Given the description of an element on the screen output the (x, y) to click on. 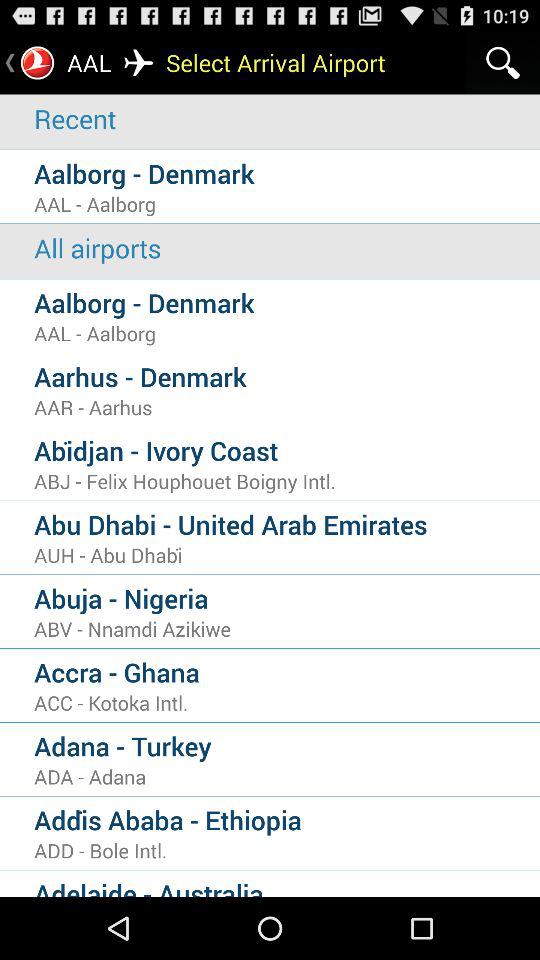
launch adelaide - australia item (287, 886)
